Given the description of an element on the screen output the (x, y) to click on. 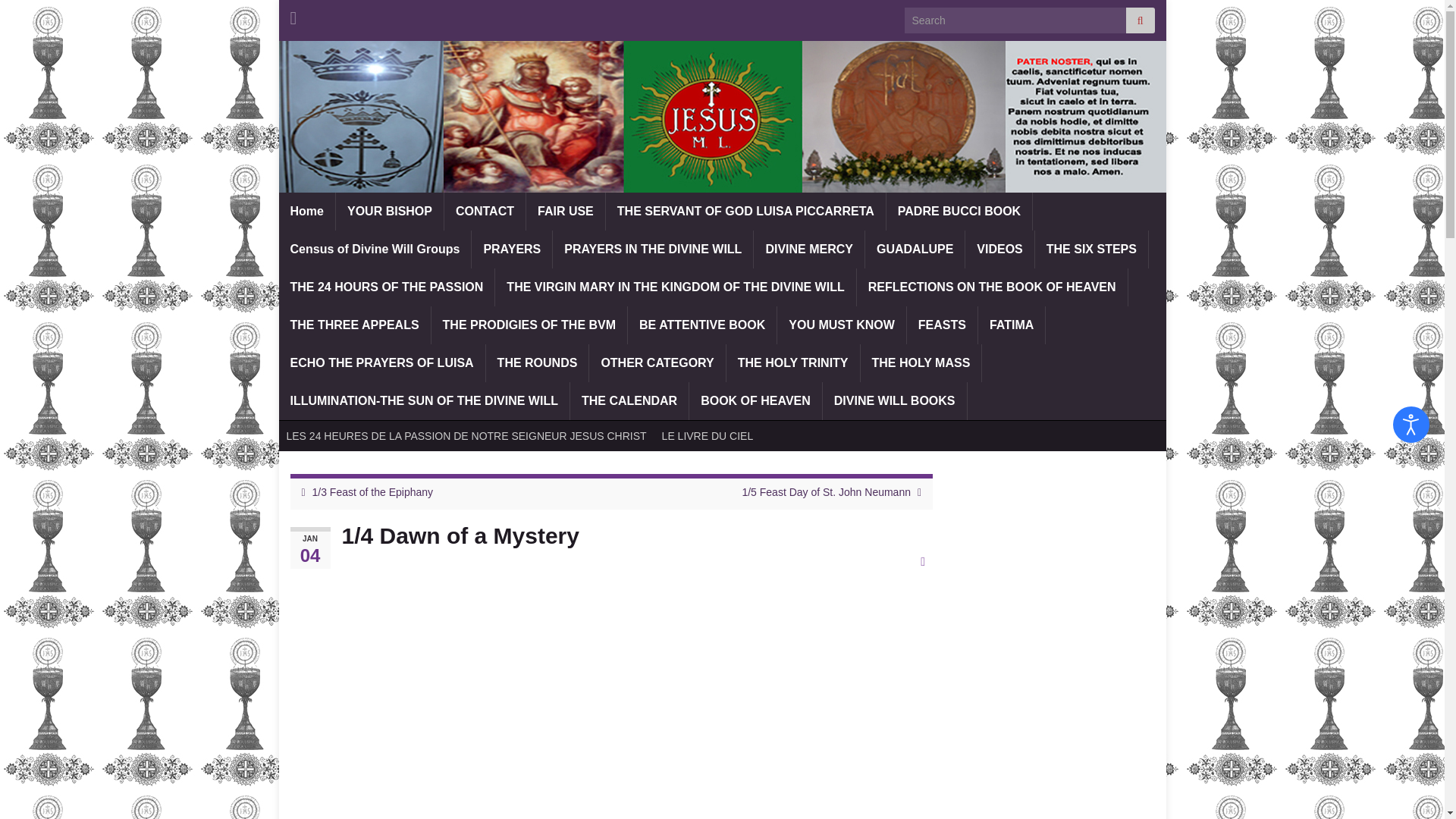
THE SIX STEPS (1091, 249)
YOUR BISHOP (390, 211)
Open accessibility tools (1411, 424)
PRAYERS (511, 249)
VIDEOS (999, 249)
Home (306, 211)
PADRE BUCCI BOOK (959, 211)
FAIR USE (565, 211)
CONTACT (484, 211)
DIVINE MERCY (809, 249)
PRAYERS IN THE DIVINE WILL (652, 249)
THE SERVANT OF GOD LUISA PICCARRETA (745, 211)
Census of Divine Will Groups (375, 249)
GUADALUPE (913, 249)
